Given the description of an element on the screen output the (x, y) to click on. 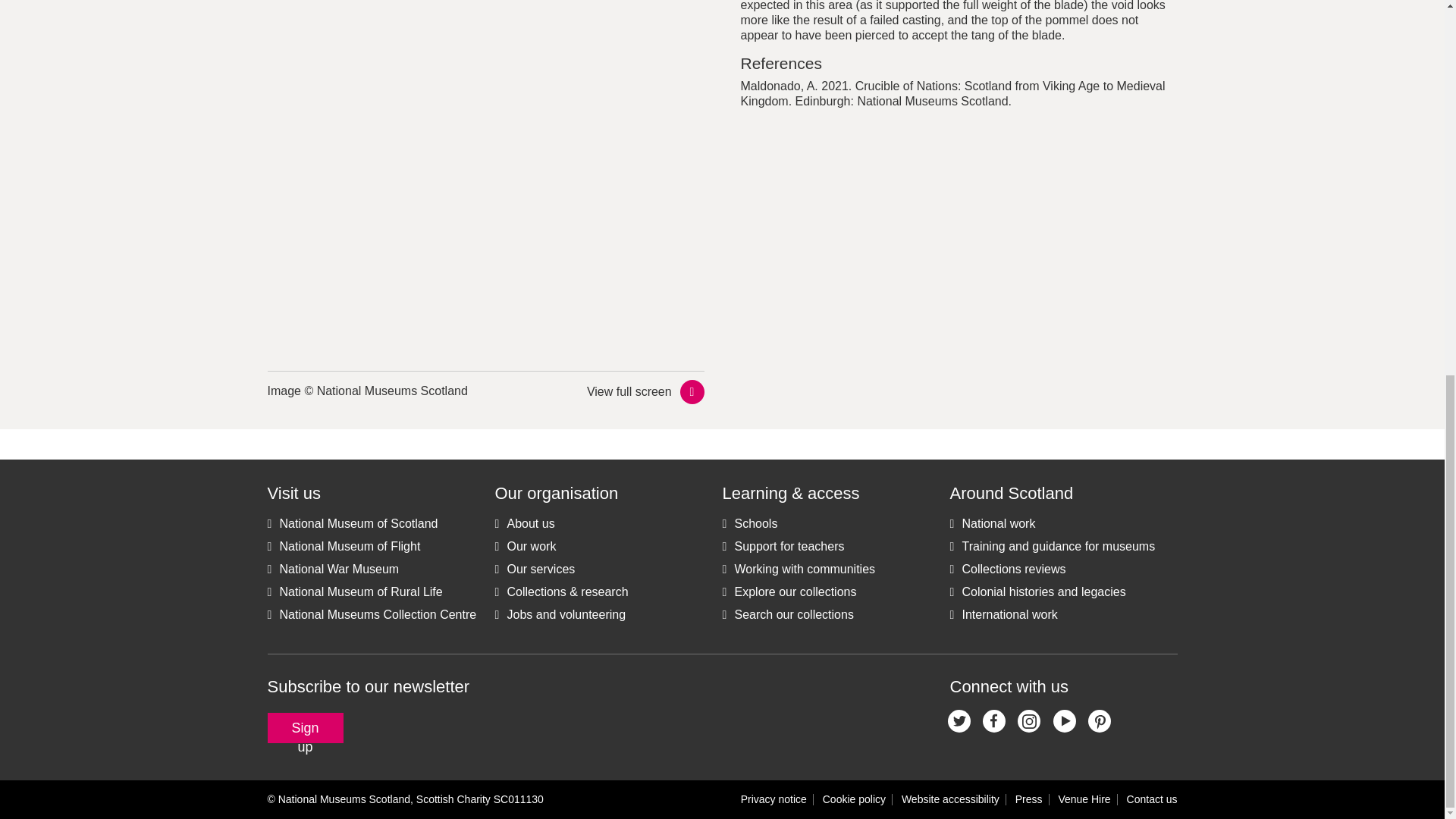
National Museum of Scotland (352, 523)
About us (524, 523)
Jobs and volunteering (560, 614)
Our services (535, 569)
National Museum of Flight (343, 546)
National work (992, 523)
Support for teachers (783, 546)
Explore our collections (789, 591)
Search our collections (787, 614)
National Museums Collection Centre (371, 614)
National War Museum (332, 569)
Training and guidance for museums (1051, 546)
Schools (749, 523)
Collections reviews (1007, 569)
National Museum of Rural Life (354, 591)
